Given the description of an element on the screen output the (x, y) to click on. 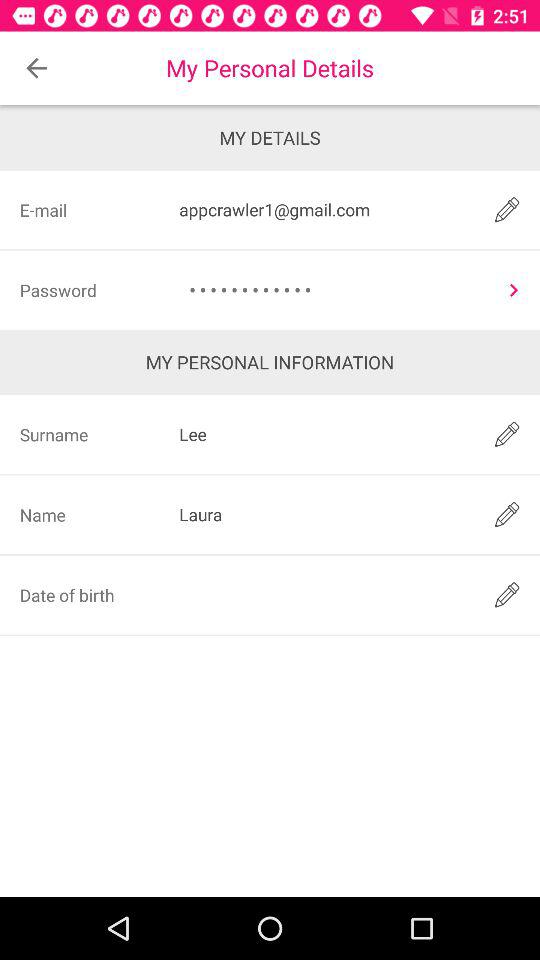
show passsword (513, 290)
